Given the description of an element on the screen output the (x, y) to click on. 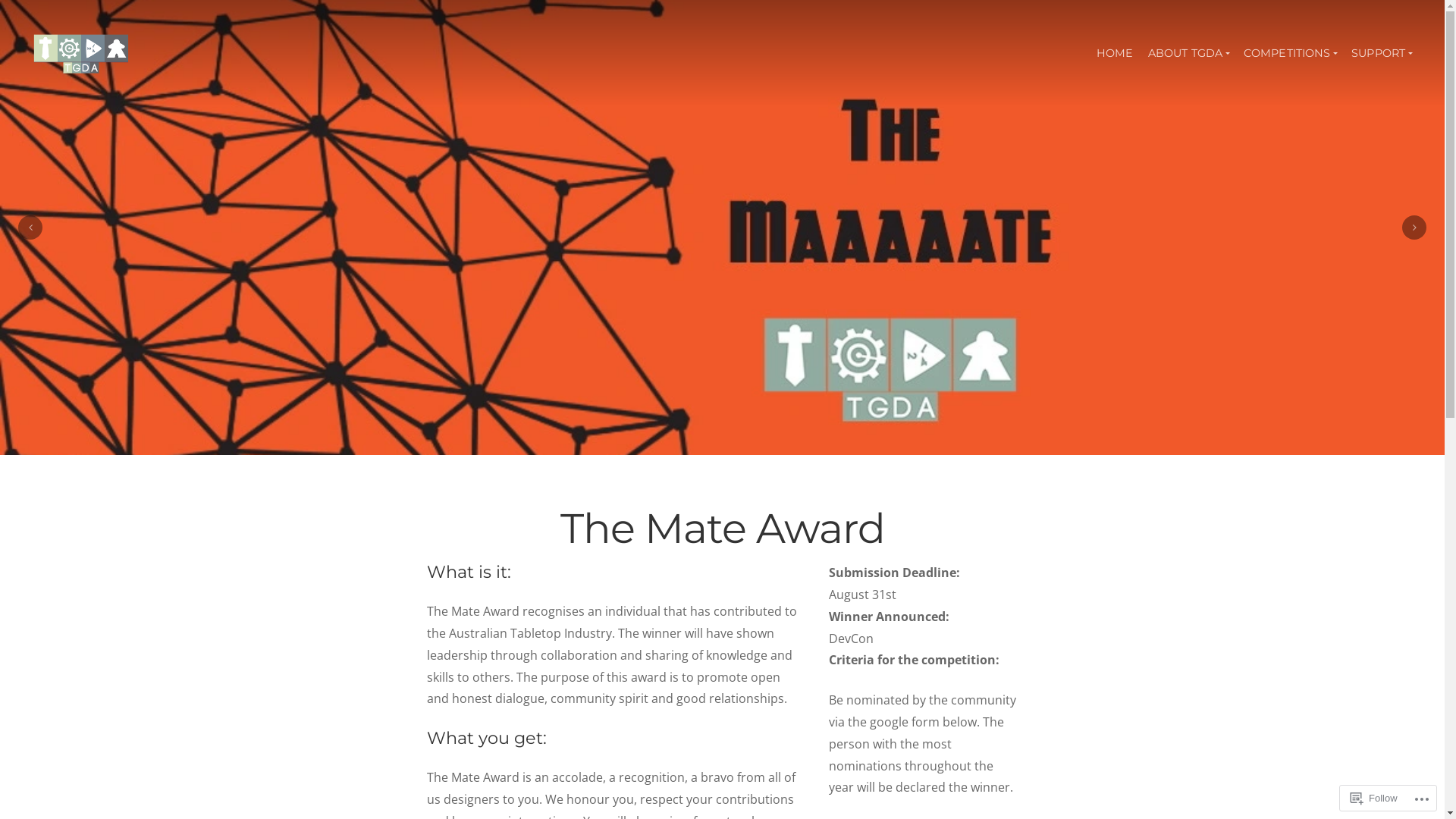
Follow Element type: text (1373, 797)
HOME Element type: text (1114, 52)
ABOUT TGDA Element type: text (1188, 52)
SUPPORT Element type: text (1381, 52)
COMPETITIONS Element type: text (1289, 52)
